Given the description of an element on the screen output the (x, y) to click on. 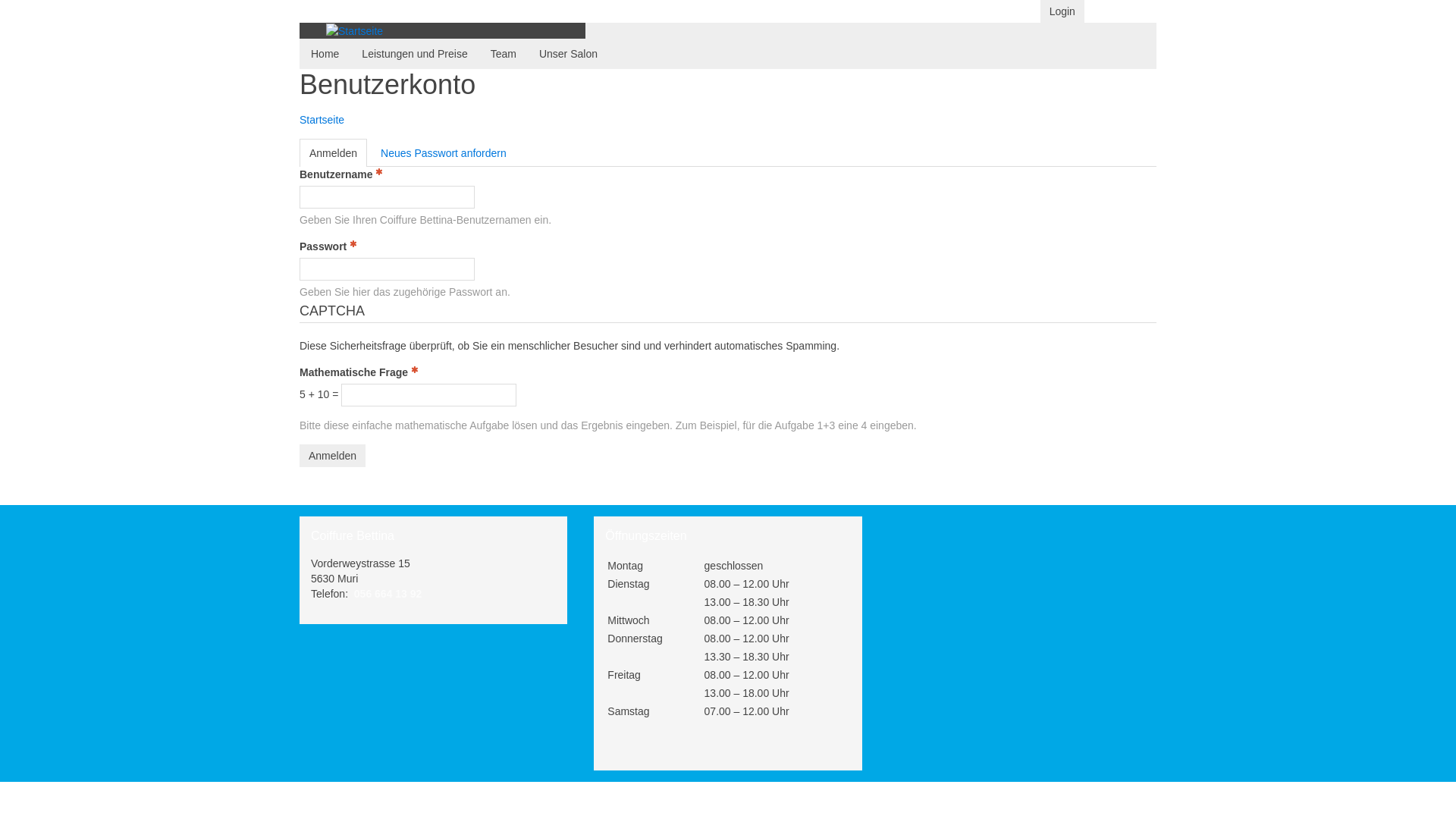
Team Element type: text (503, 53)
Neues Passwort anfordern Element type: text (443, 152)
Leistungen und Preise Element type: text (414, 53)
Home Element type: text (324, 53)
Login Element type: text (1062, 11)
Anmelden Element type: text (332, 455)
Unser Salon Element type: text (567, 53)
056 664 13 92 Element type: text (388, 593)
Startseite Element type: text (321, 119)
Anmelden Element type: text (333, 152)
Startseite Element type: hover (354, 30)
